Given the description of an element on the screen output the (x, y) to click on. 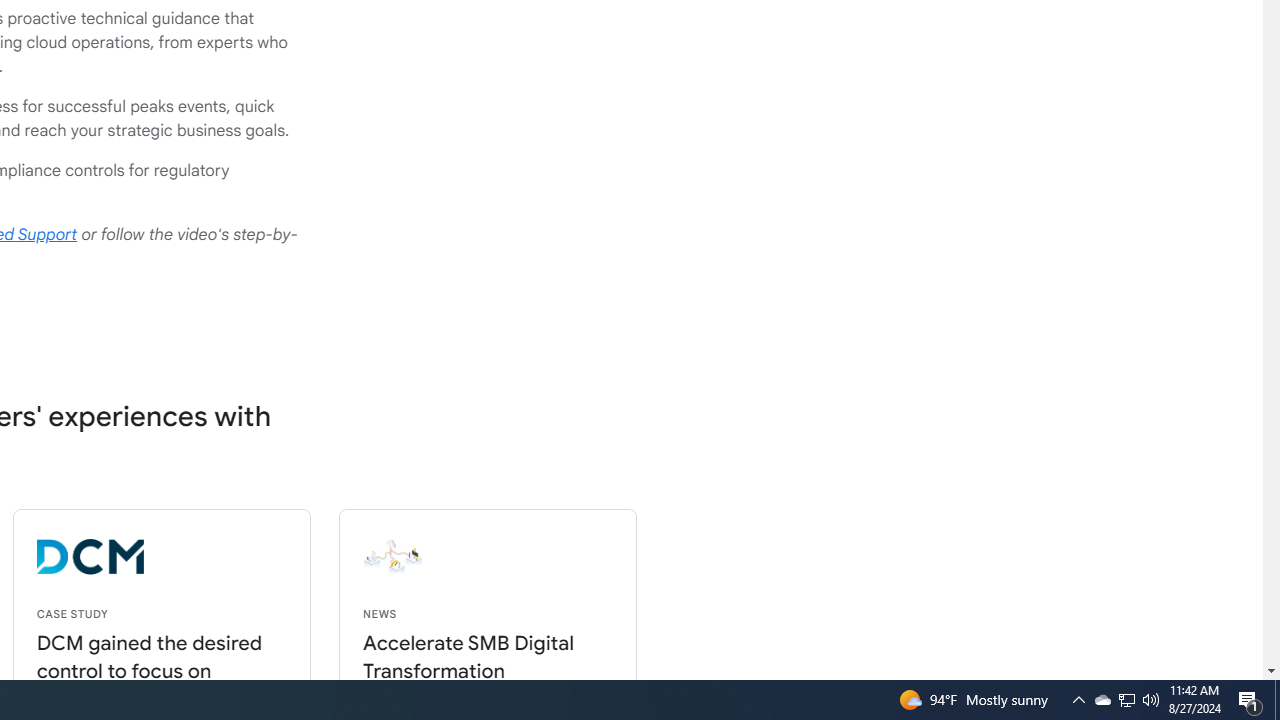
employees connected through the cloud illustration (541, 557)
